Given the description of an element on the screen output the (x, y) to click on. 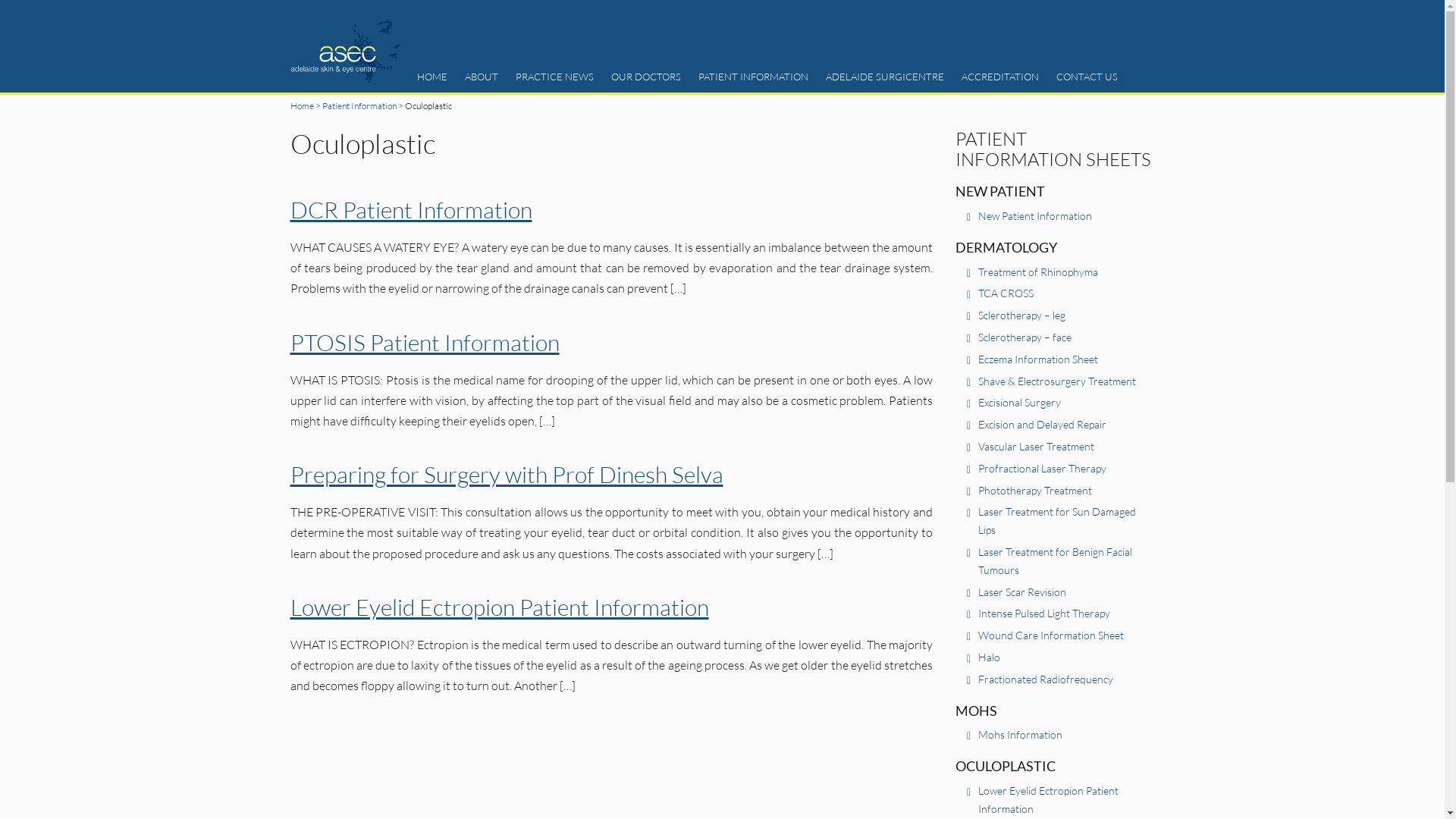
HOME Element type: text (432, 76)
DCR Patient Information Element type: text (410, 209)
New Patient Information Element type: text (1035, 215)
Patient Information Element type: text (358, 105)
Lower Eyelid Ectropion Patient Information Element type: text (1048, 799)
Laser Treatment for Sun Damaged Lips Element type: text (1056, 520)
Lower Eyelid Ectropion Patient Information Element type: text (498, 607)
Intense Pulsed Light Therapy Element type: text (1044, 612)
OUR DOCTORS Element type: text (645, 76)
Phototherapy Treatment Element type: text (1035, 489)
ADELAIDE SURGICENTRE Element type: text (884, 76)
Preparing for Surgery with Prof Dinesh Selva Element type: text (505, 474)
PRACTICE NEWS Element type: text (554, 76)
Laser Treatment for Benign Facial Tumours Element type: text (1055, 560)
TCA CROSS Element type: text (1005, 292)
Profractional Laser Therapy Element type: text (1042, 467)
Fractionated Radiofrequency Element type: text (1045, 678)
Excision and Delayed Repair Element type: text (1042, 423)
Halo Element type: text (989, 656)
CONTACT US Element type: text (1086, 76)
Home Element type: text (301, 105)
Eczema Information Sheet Element type: text (1038, 358)
Excisional Surgery Element type: text (1019, 401)
PTOSIS Patient Information Element type: text (423, 342)
Shave & Electrosurgery Treatment Element type: text (1056, 380)
Treatment of Rhinophyma Element type: text (1038, 271)
Vascular Laser Treatment Element type: text (1036, 445)
ACCREDITATION Element type: text (999, 76)
Laser Scar Revision Element type: text (1022, 591)
Wound Care Information Sheet Element type: text (1050, 634)
Mohs Information Element type: text (1020, 734)
PATIENT INFORMATION Element type: text (752, 76)
ABOUT Element type: text (481, 76)
